Given the description of an element on the screen output the (x, y) to click on. 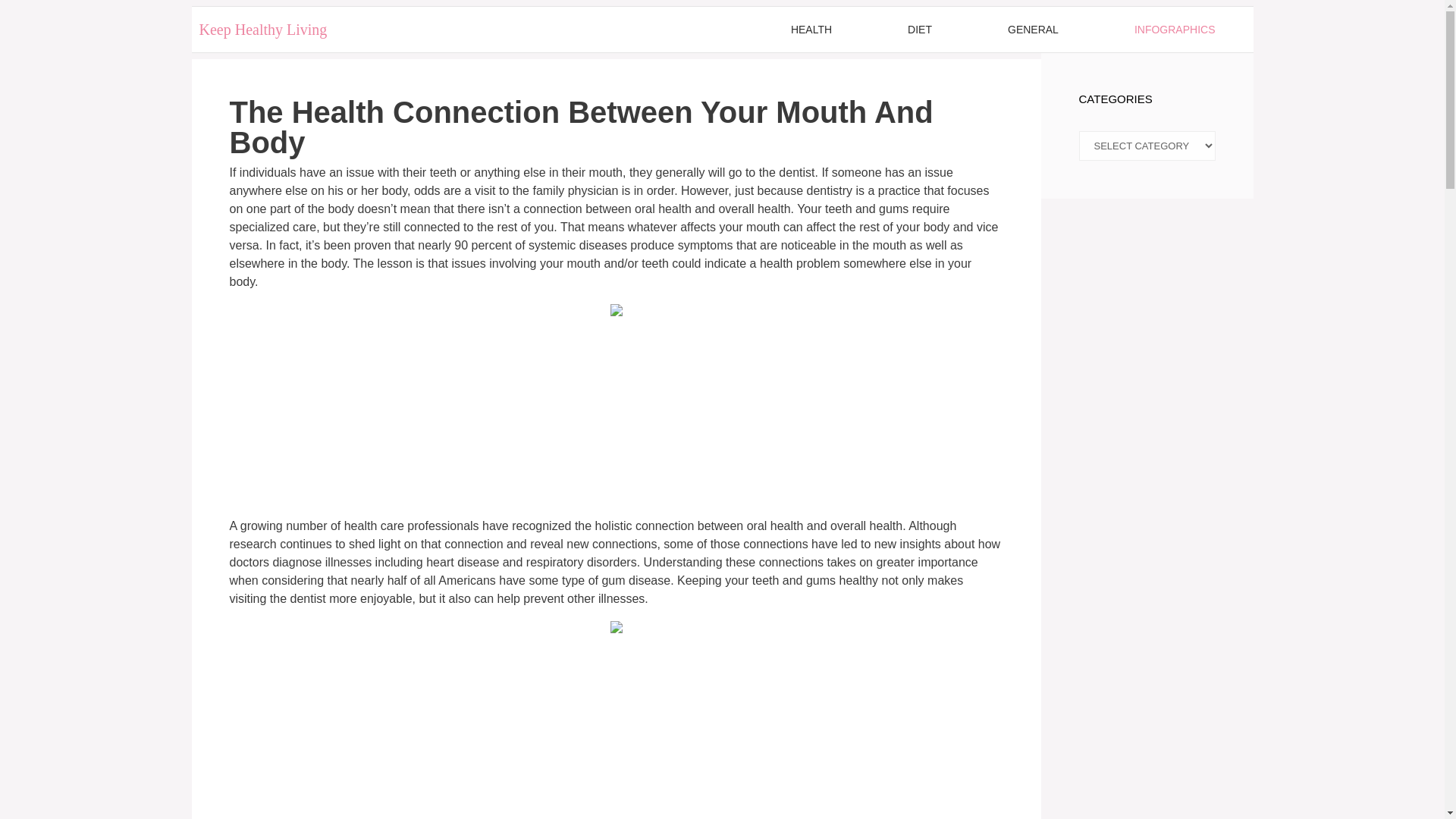
GENERAL (1032, 29)
HEALTH (810, 29)
INFOGRAPHICS (1174, 29)
DIET (919, 29)
Keep Healthy Living (262, 29)
